Given the description of an element on the screen output the (x, y) to click on. 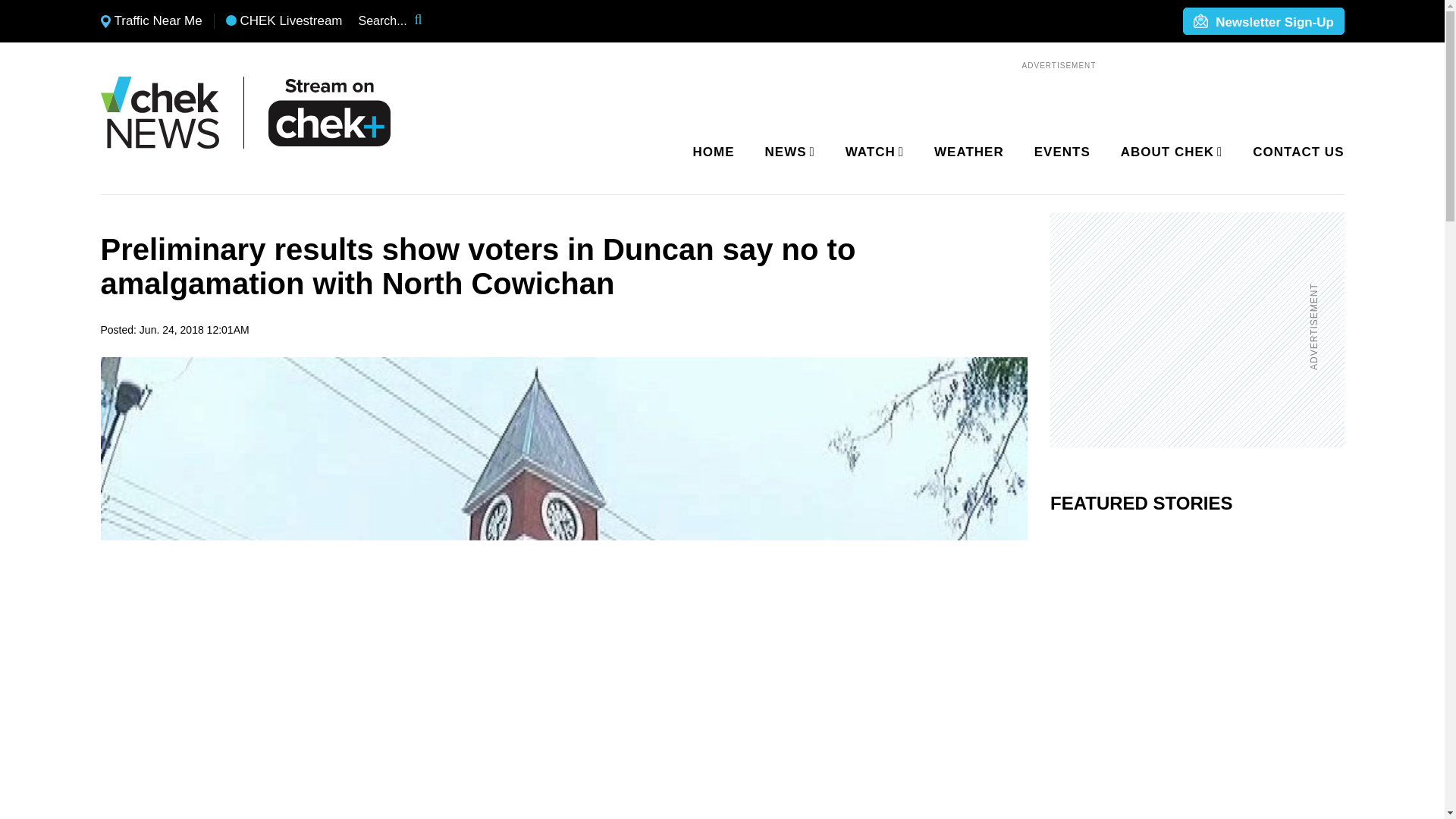
Search (428, 21)
HOME (714, 152)
NEWS (787, 152)
Traffic Near Me (151, 20)
CHEK Livestream (283, 20)
Newsletter Sign-Up (1262, 22)
